Given the description of an element on the screen output the (x, y) to click on. 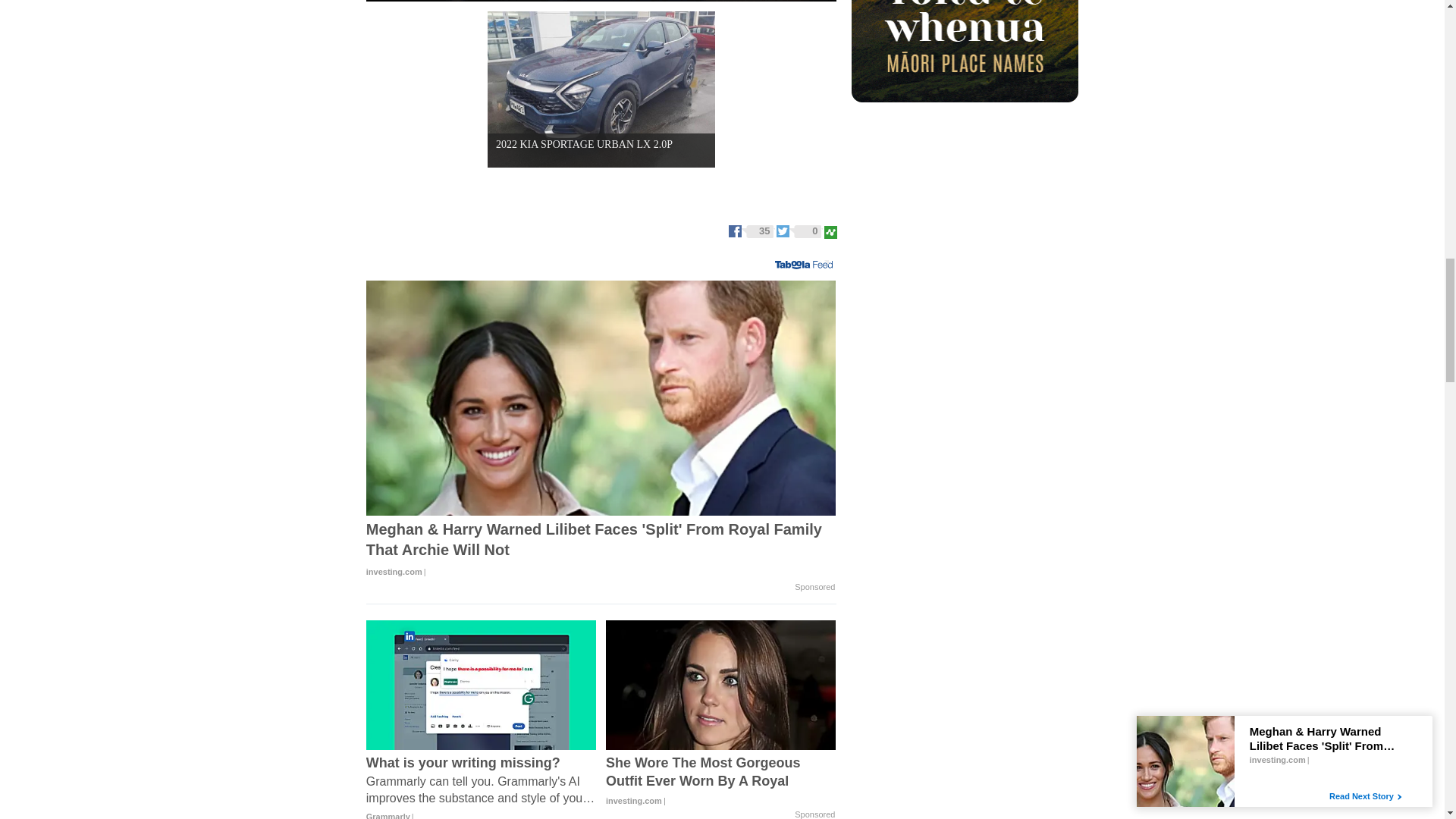
She Wore The Most Gorgeous Outfit Ever Worn By A Royal (720, 781)
Twitter (800, 229)
What is your writing missing? (481, 786)
Facebook (752, 229)
ShareThis (829, 229)
